Given the description of an element on the screen output the (x, y) to click on. 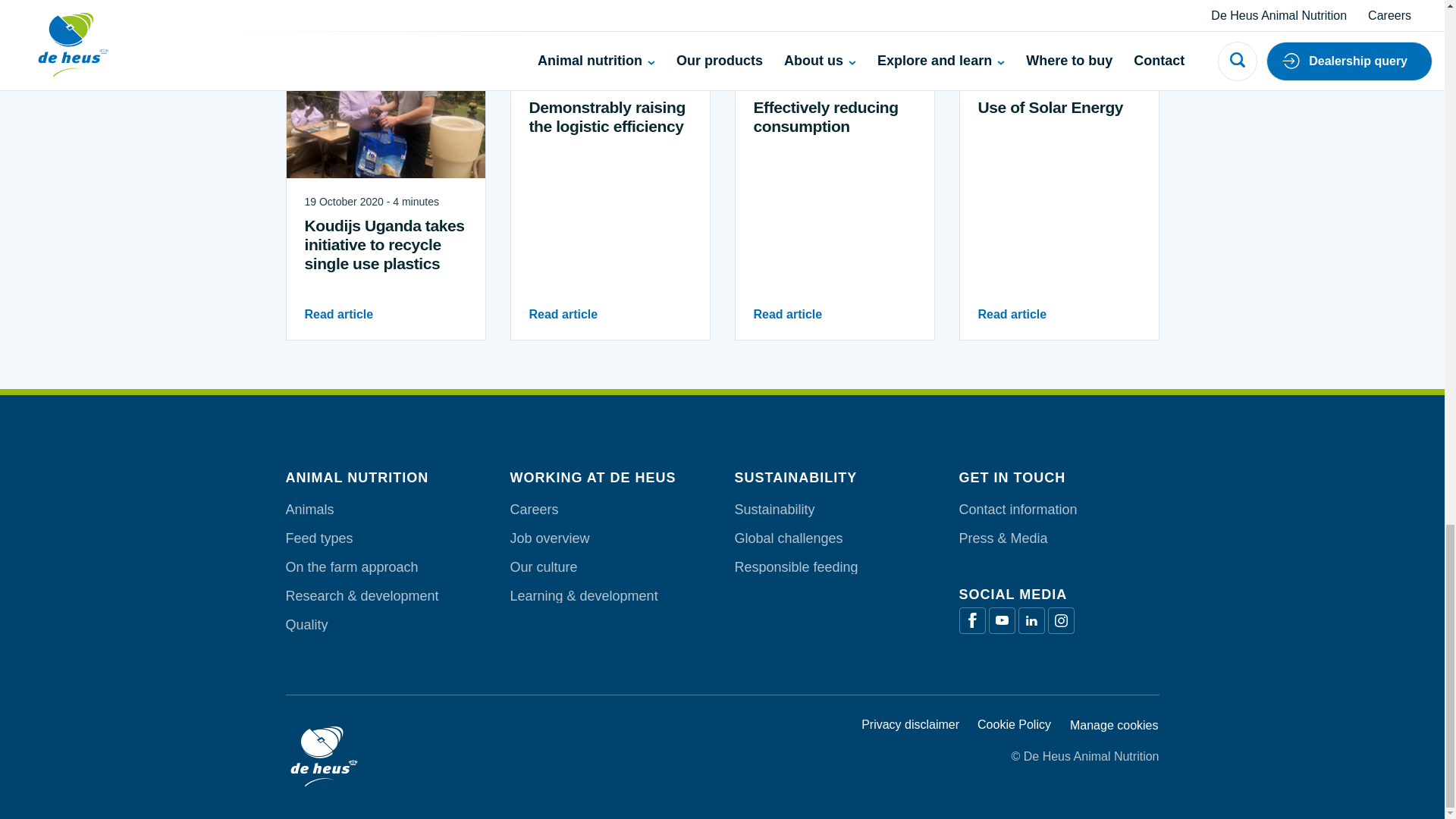
Effectively reducing consumption (834, 116)
Use of Solar Energy (1059, 107)
Demonstrably raising the logistic efficiency (610, 116)
